Given the description of an element on the screen output the (x, y) to click on. 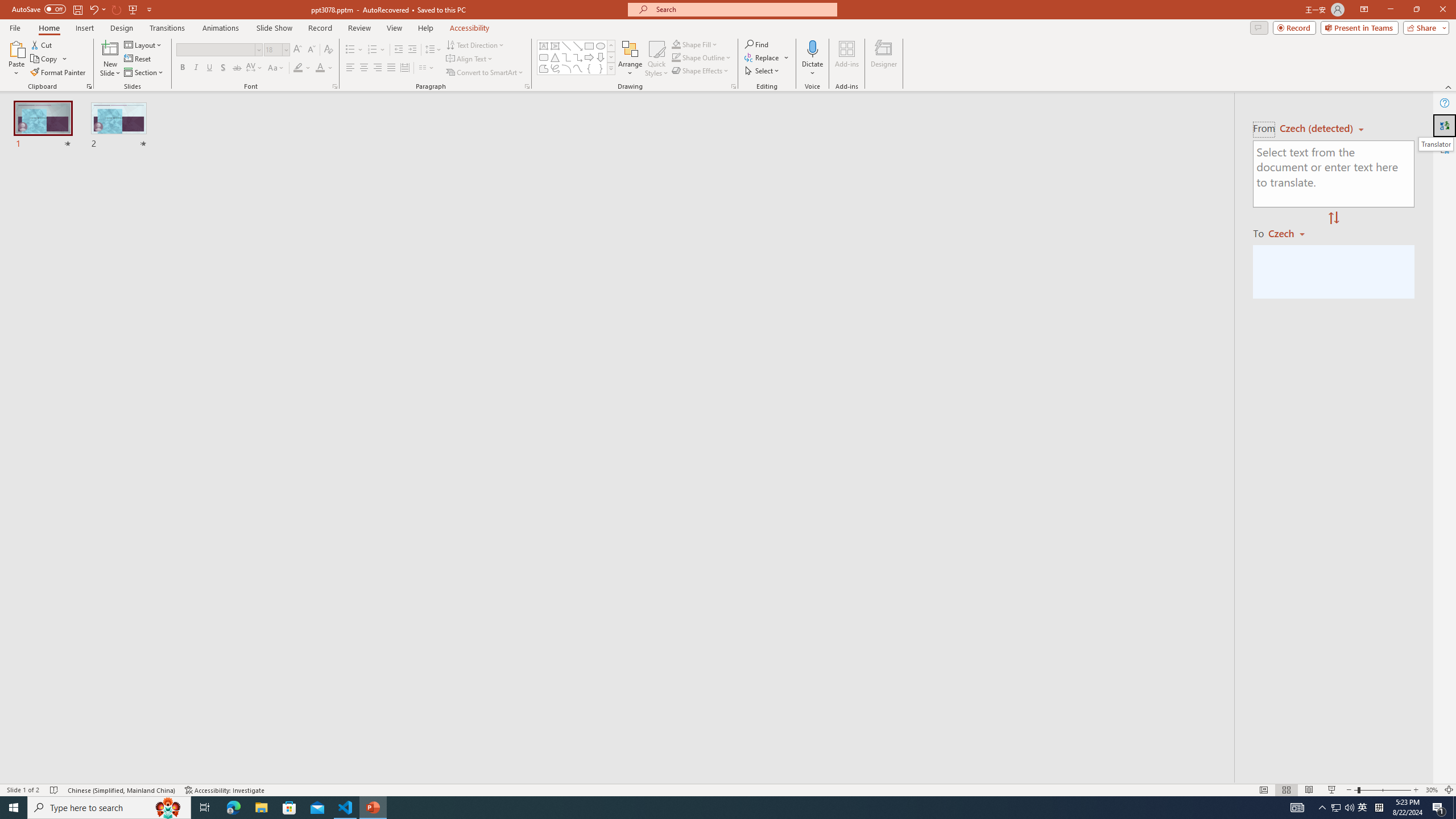
Font Color (324, 67)
Format Object... (733, 85)
Font Size (273, 49)
Czech (1291, 232)
Accessibility Checker Accessibility: Investigate (224, 790)
New Slide (110, 58)
Freeform: Scribble (554, 68)
Bullets (354, 49)
Office Clipboard... (88, 85)
Row Down (611, 56)
Font Color Red (320, 67)
